Given the description of an element on the screen output the (x, y) to click on. 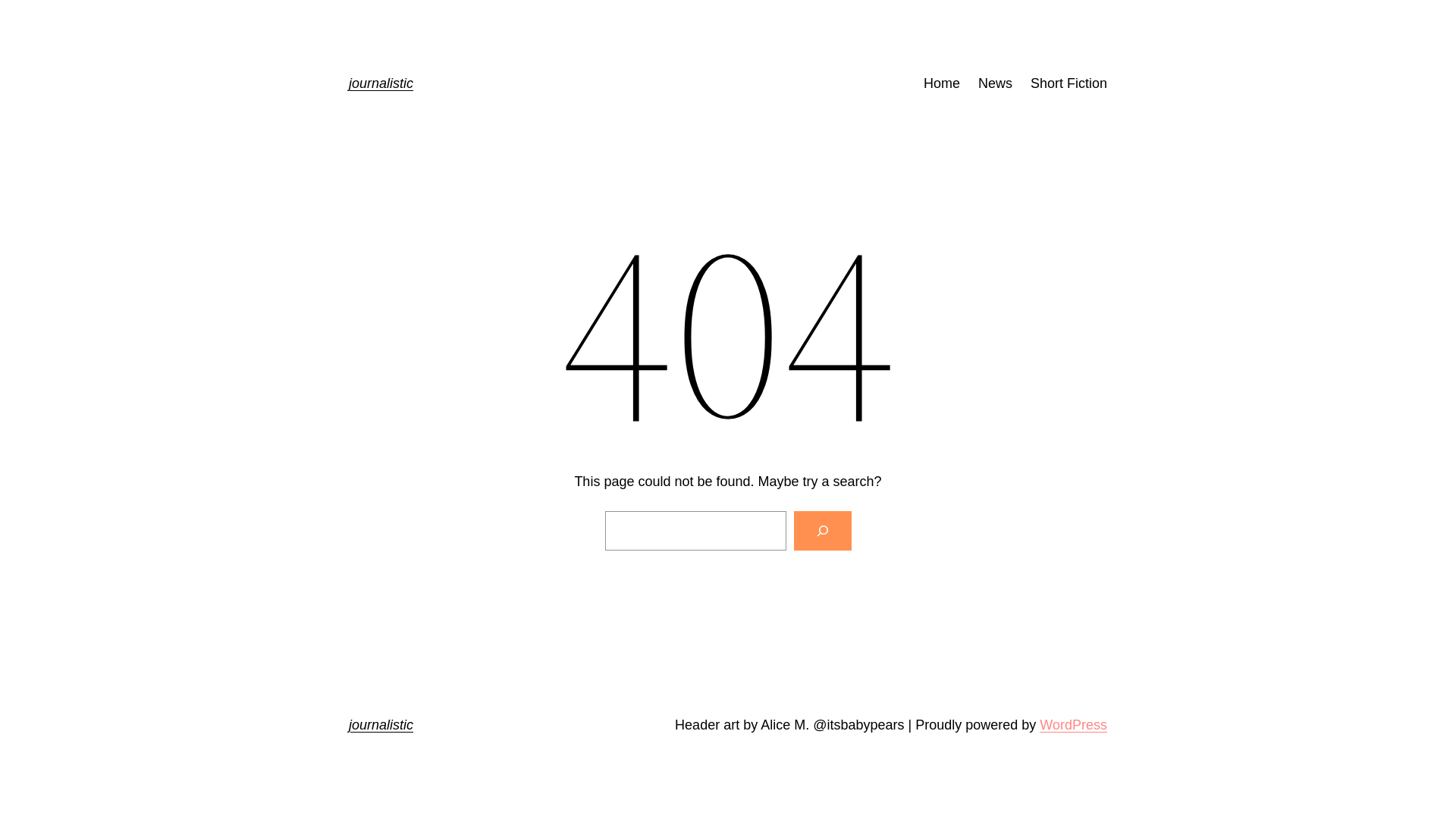
Home Element type: text (941, 83)
WordPress Element type: text (1073, 724)
journalistic Element type: text (380, 724)
News Element type: text (995, 83)
Short Fiction Element type: text (1068, 83)
journalistic Element type: text (380, 83)
